Given the description of an element on the screen output the (x, y) to click on. 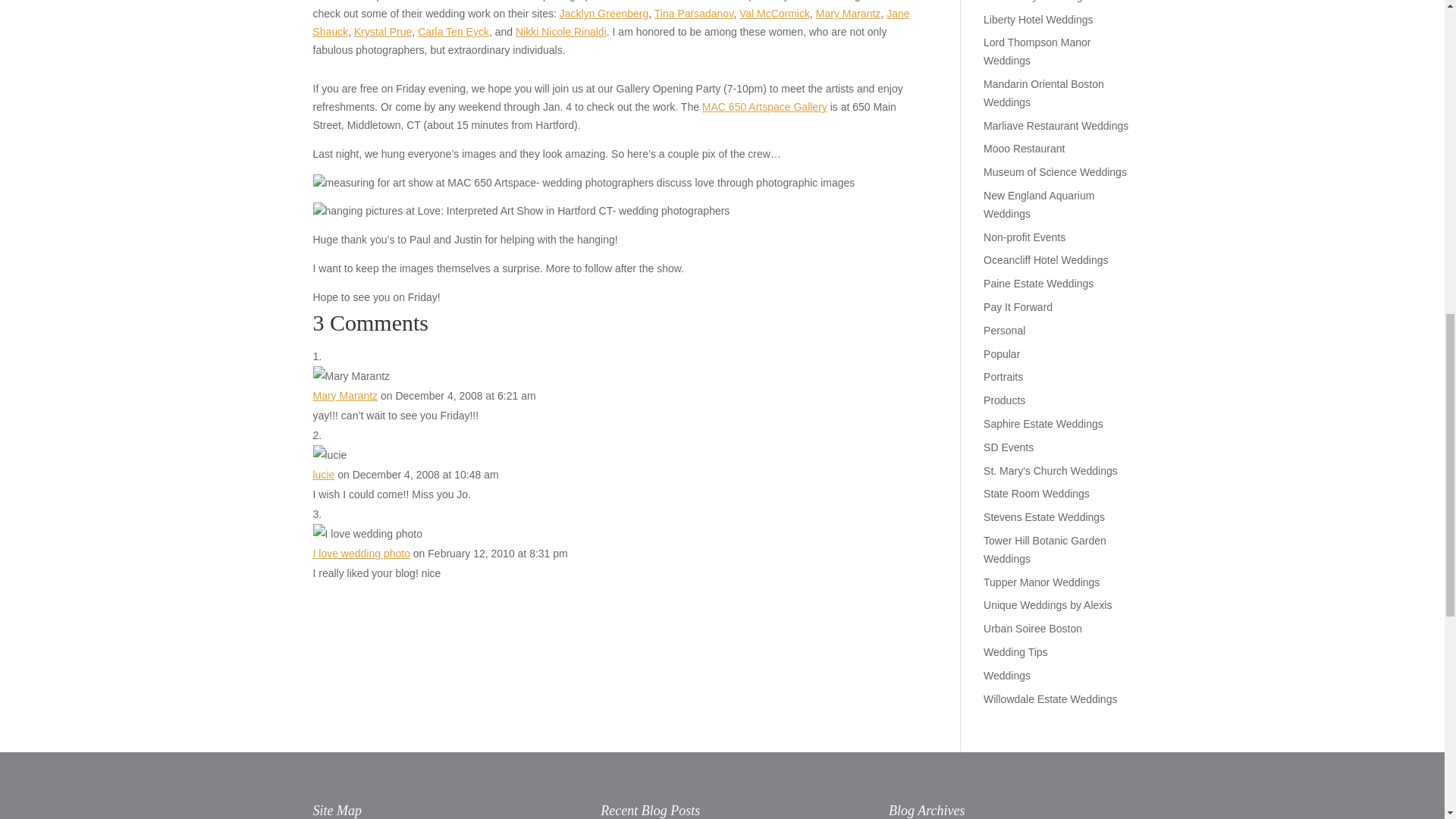
Carla Ten Eyck (453, 31)
Val McCormick (774, 13)
Jane Shauck (610, 22)
I love wedding photo (361, 553)
Tina Parsadanov (693, 13)
lucie (323, 474)
Krystal Prue (382, 31)
MAC 650 Artspace Gallery (764, 106)
Mary Marantz (345, 395)
Jacklyn Greenberg (604, 13)
Nikki Nicole Rinaldi (561, 31)
Mary Marantz (847, 13)
